Given the description of an element on the screen output the (x, y) to click on. 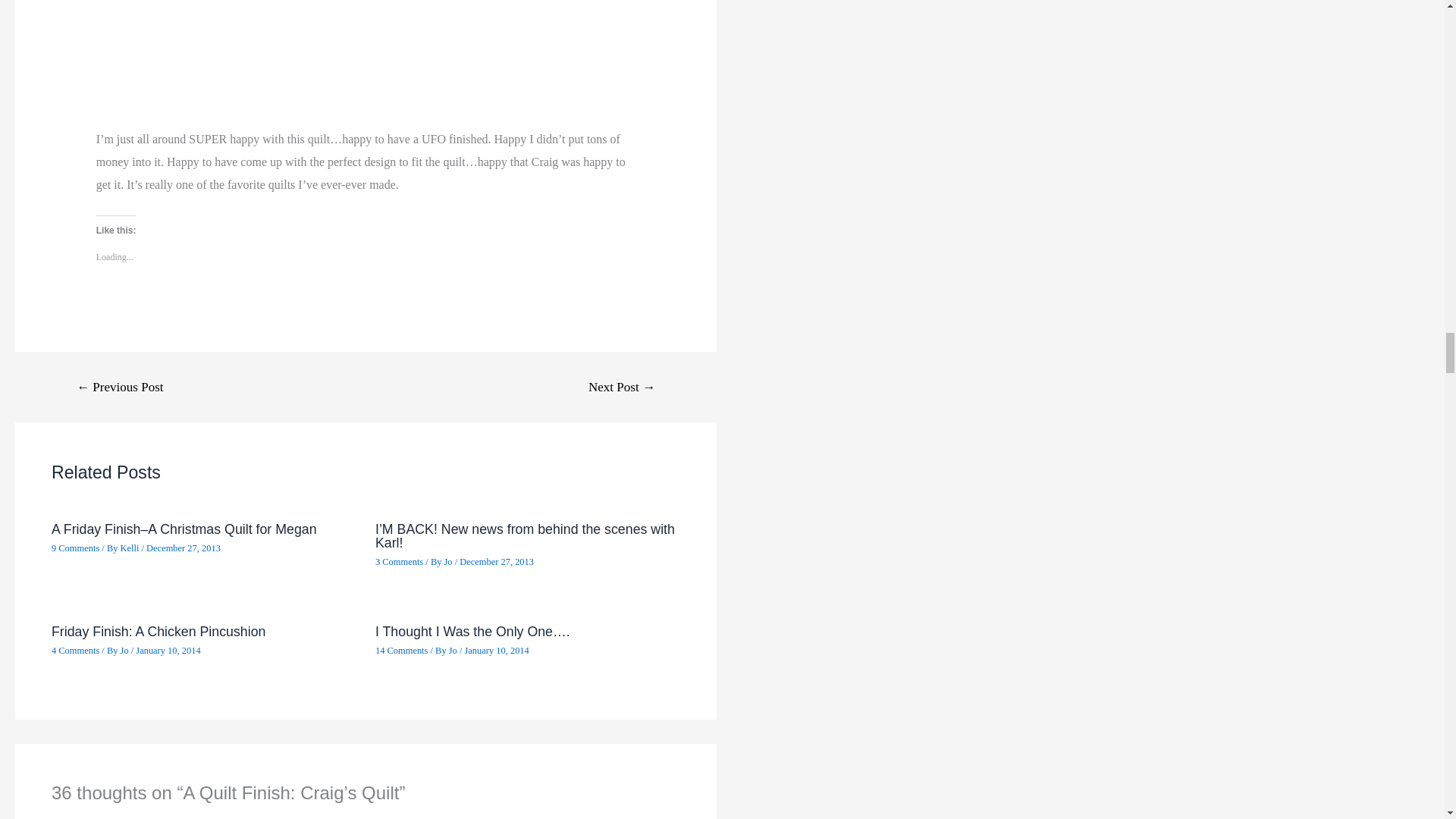
View all posts by Jo (125, 650)
View all posts by Kelli (130, 547)
View all posts by Jo (454, 650)
View all posts by Jo (449, 561)
